Given the description of an element on the screen output the (x, y) to click on. 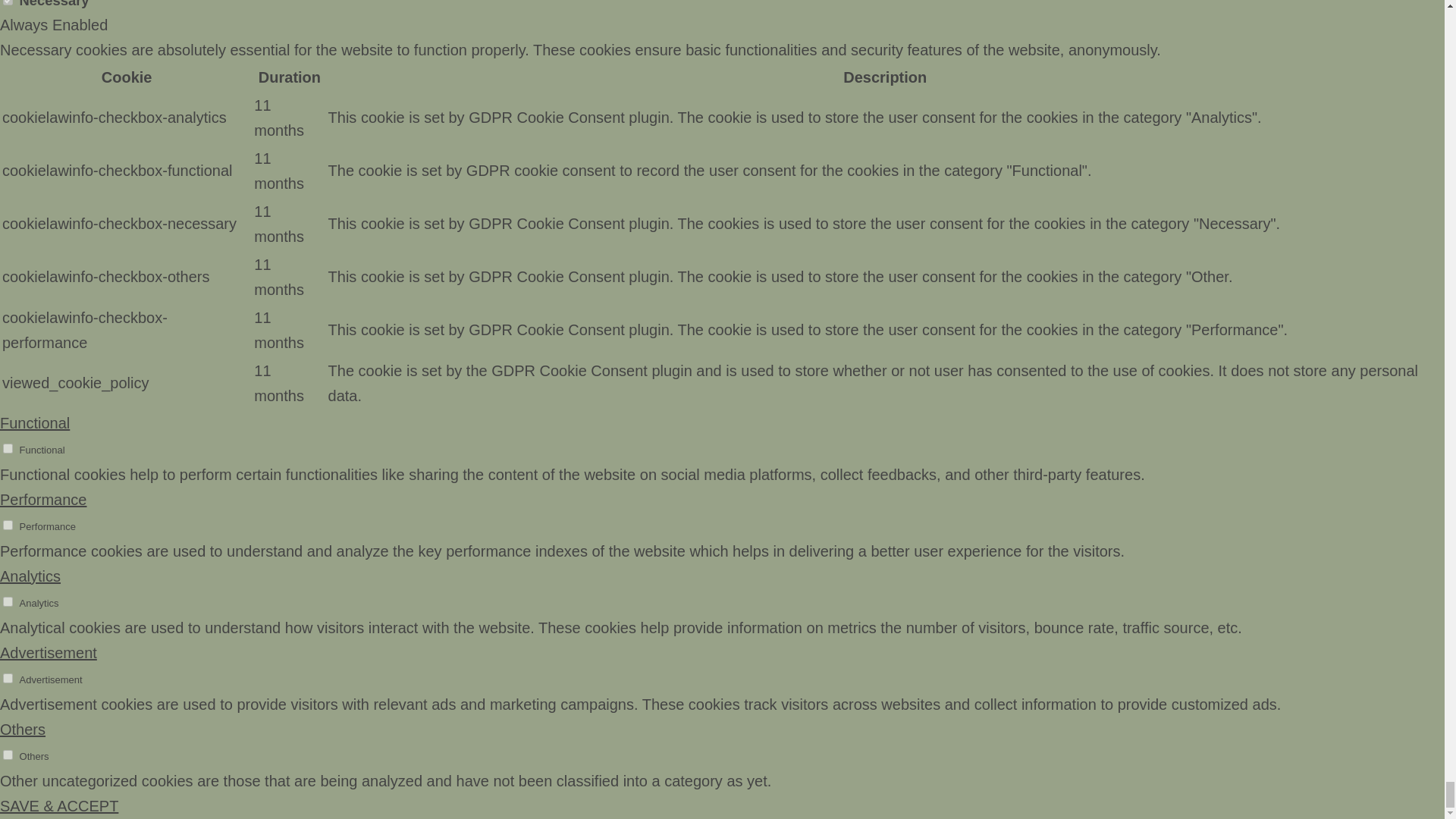
on (7, 678)
on (7, 524)
on (7, 755)
on (7, 601)
on (7, 448)
on (7, 2)
